Given the description of an element on the screen output the (x, y) to click on. 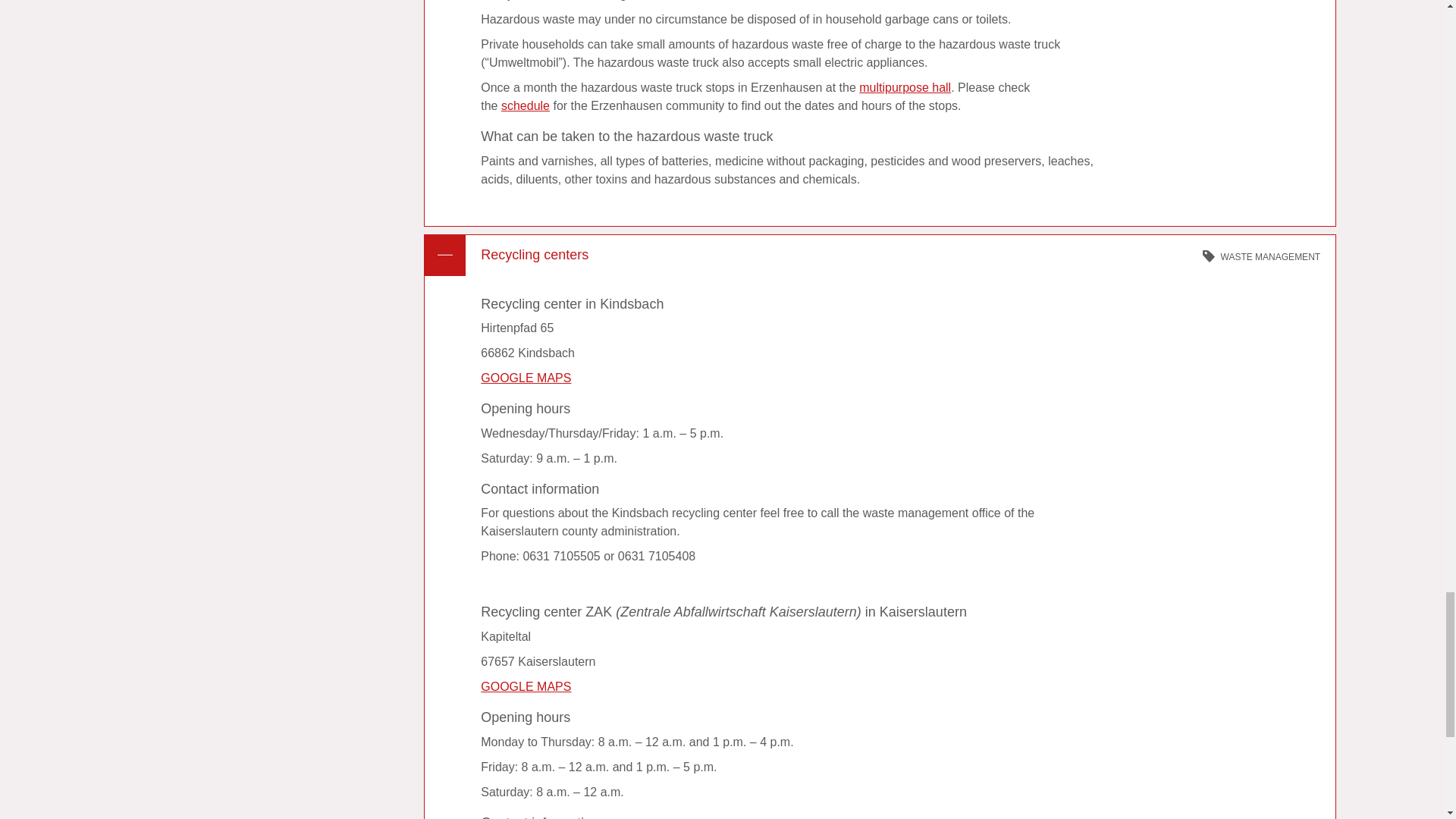
GOOGLE MAPS (525, 686)
schedule (525, 105)
multipurpose hall (904, 87)
GOOGLE MAPS (525, 377)
